Given the description of an element on the screen output the (x, y) to click on. 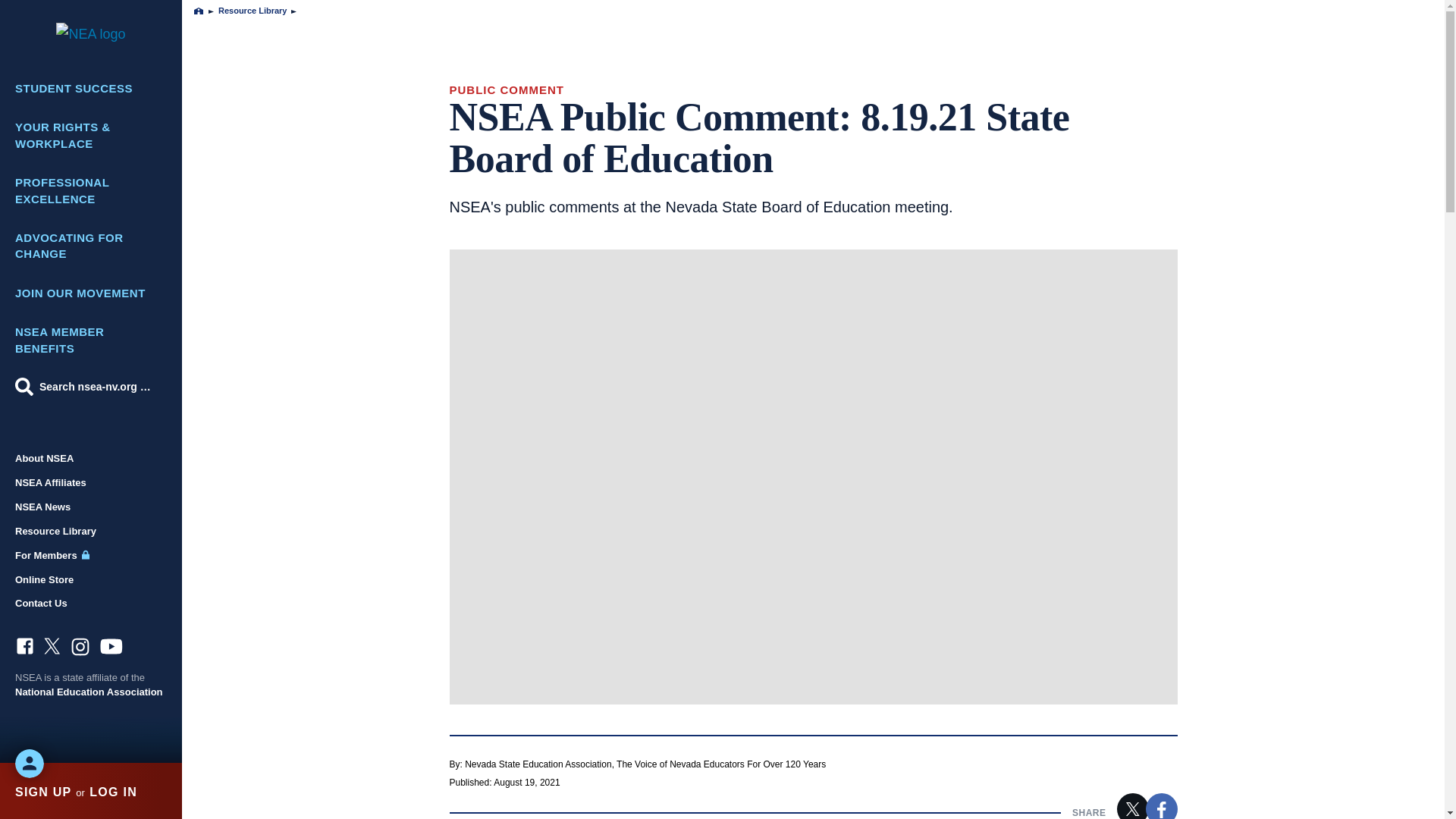
About NSEA (90, 458)
ADVOCATING FOR CHANGE (90, 246)
LOG IN (112, 792)
NSEA Affiliates (90, 482)
NSEA MEMBER BENEFITS (90, 339)
NSEA News (90, 507)
Resource Library (90, 531)
SIGN UP (42, 792)
About NSEA (90, 458)
JOIN OUR MOVEMENT (90, 293)
